Given the description of an element on the screen output the (x, y) to click on. 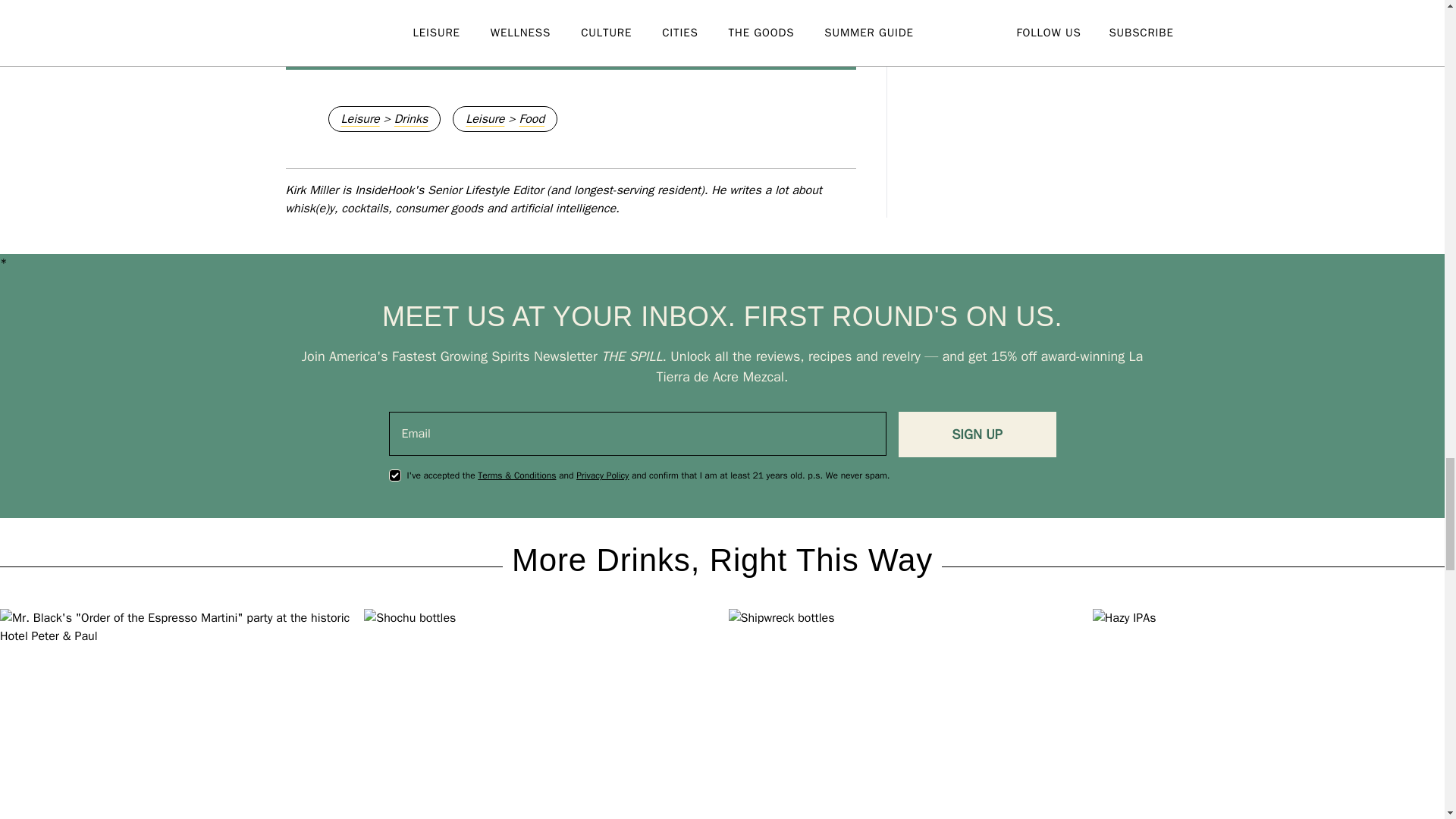
on (394, 475)
